Given the description of an element on the screen output the (x, y) to click on. 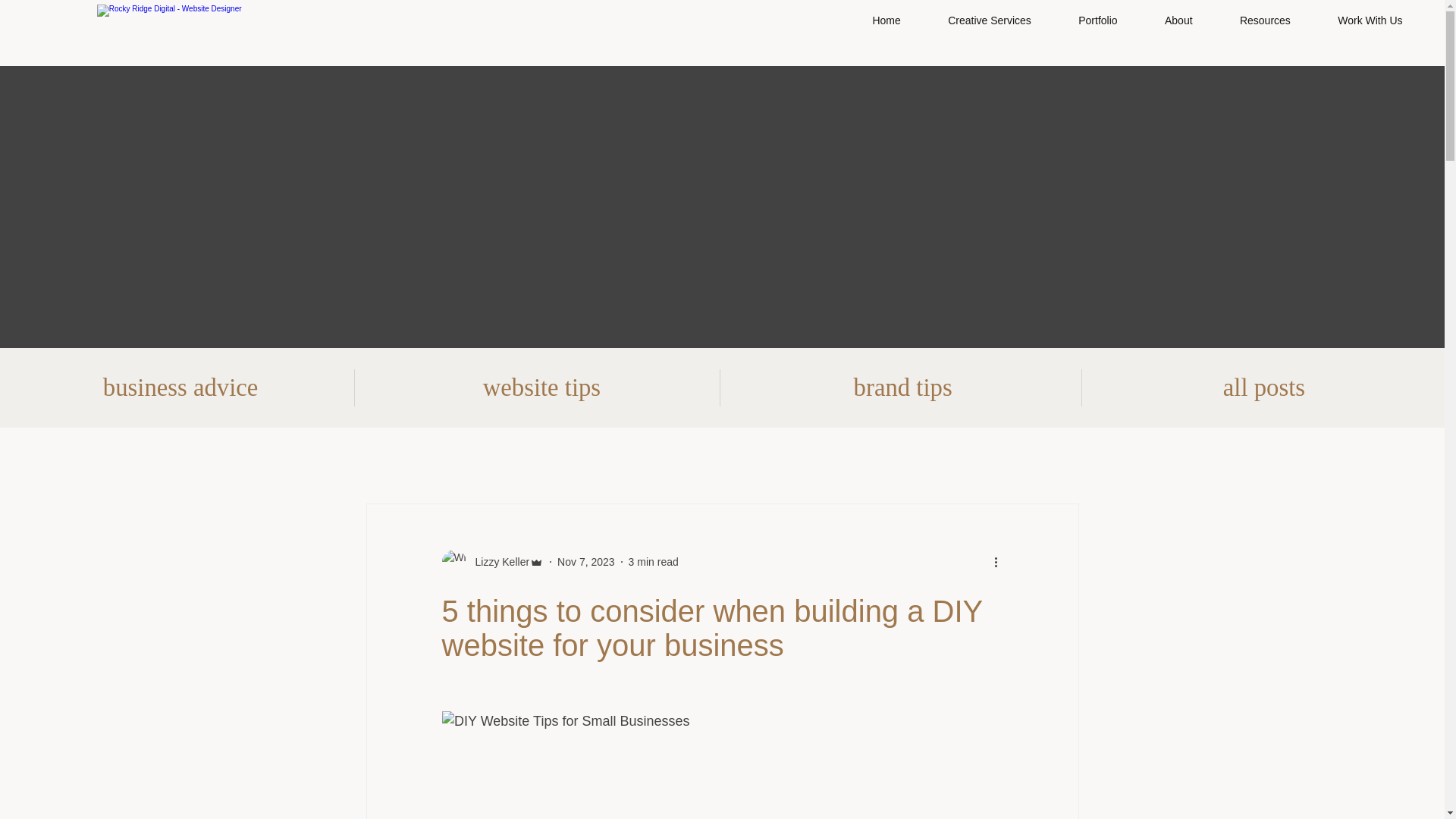
business advice (647, 458)
Home (886, 19)
Work With Us (1370, 19)
Resources (1265, 19)
Nov 7, 2023 (585, 562)
All Posts (373, 458)
3 min read (653, 562)
business advice (180, 387)
website tips (458, 458)
all posts (1263, 387)
website tips (541, 387)
Lizzy Keller (497, 562)
brand tips (548, 458)
About (1178, 19)
